Given the description of an element on the screen output the (x, y) to click on. 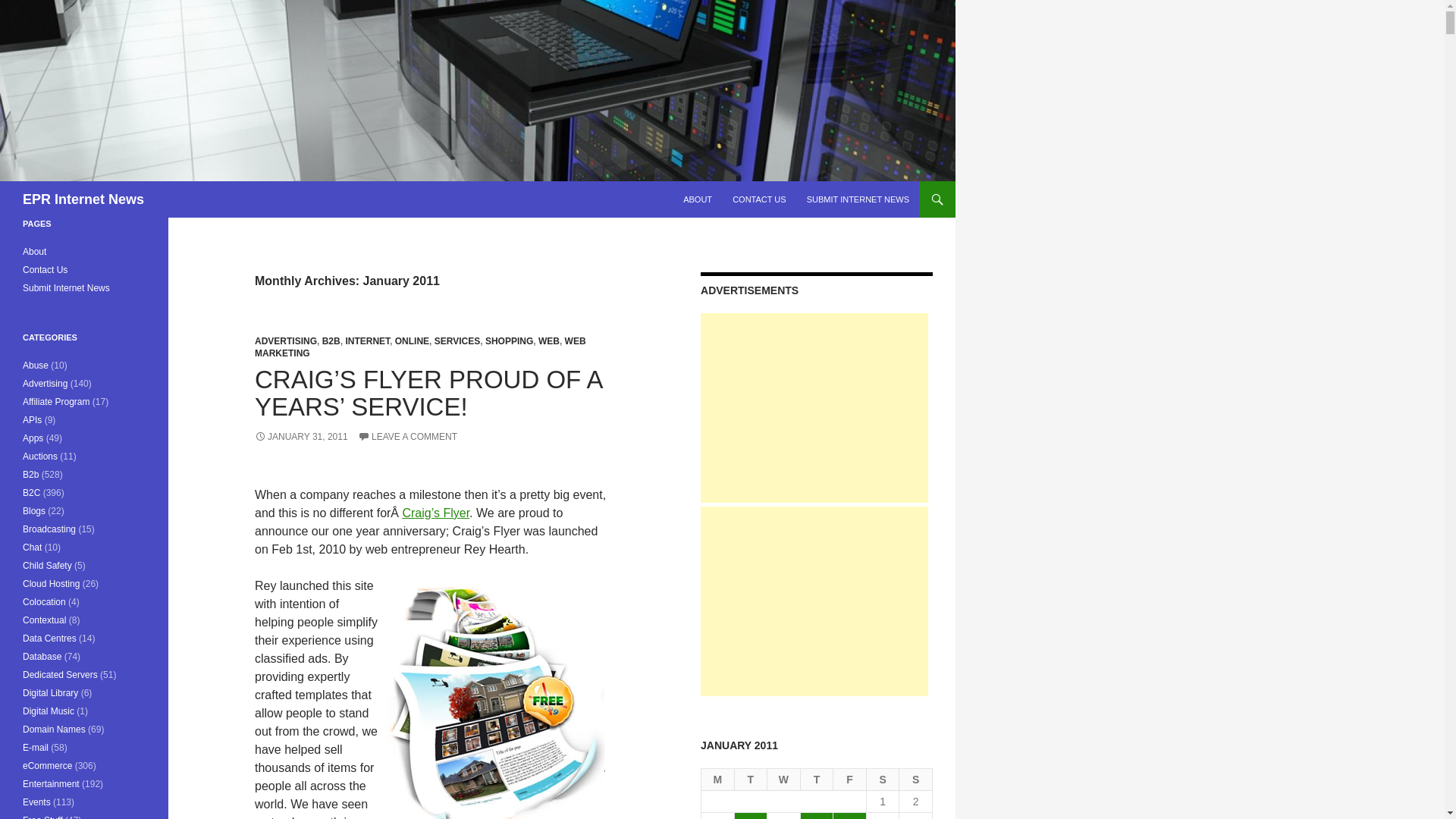
INTERNET (367, 340)
Tuesday (751, 780)
Thursday (817, 780)
SHOPPING (508, 340)
LEAVE A COMMENT (407, 436)
ADVERTISING (285, 340)
SERVICES (456, 340)
B2B (330, 340)
CONTACT US (758, 198)
ONLINE (411, 340)
Monday (718, 780)
WEB MARKETING (420, 346)
Advertisement (814, 407)
